Given the description of an element on the screen output the (x, y) to click on. 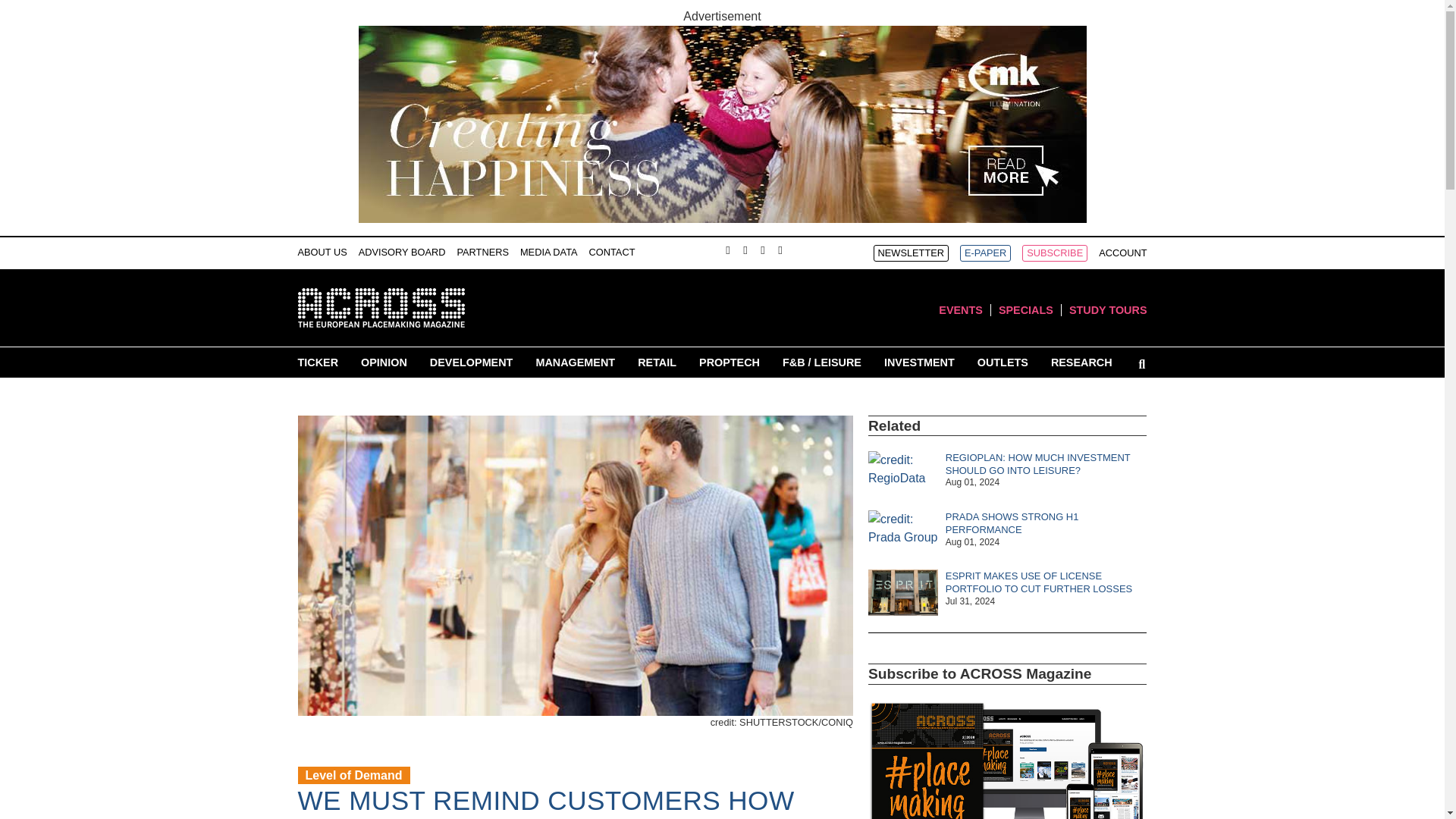
DEVELOPMENT (471, 362)
STUDY TOURS (1107, 309)
NEWSLETTER (911, 252)
RETAIL (657, 362)
EVENTS (960, 309)
SPECIALS (1025, 309)
PARTNERS (482, 252)
OPINION (384, 362)
SUBSCRIBE (1054, 252)
CONTACT (611, 252)
E-PAPER (984, 252)
INVESTMENT (919, 362)
Subscribe to the ACROSS Newsletter (911, 252)
ACCOUNT (1123, 252)
MANAGEMENT (574, 362)
